Given the description of an element on the screen output the (x, y) to click on. 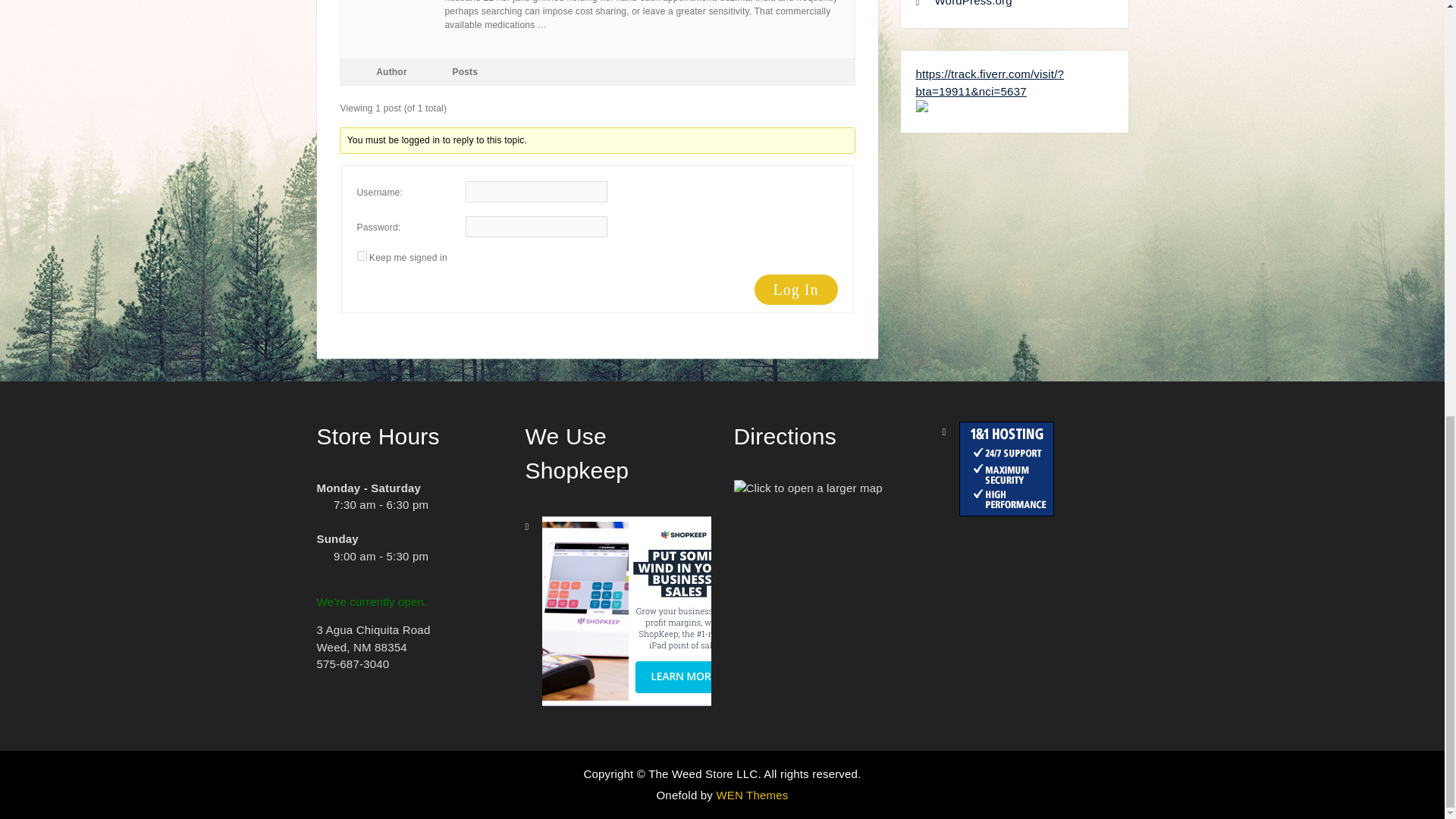
Click to open a larger map (807, 488)
forever (361, 255)
